Given the description of an element on the screen output the (x, y) to click on. 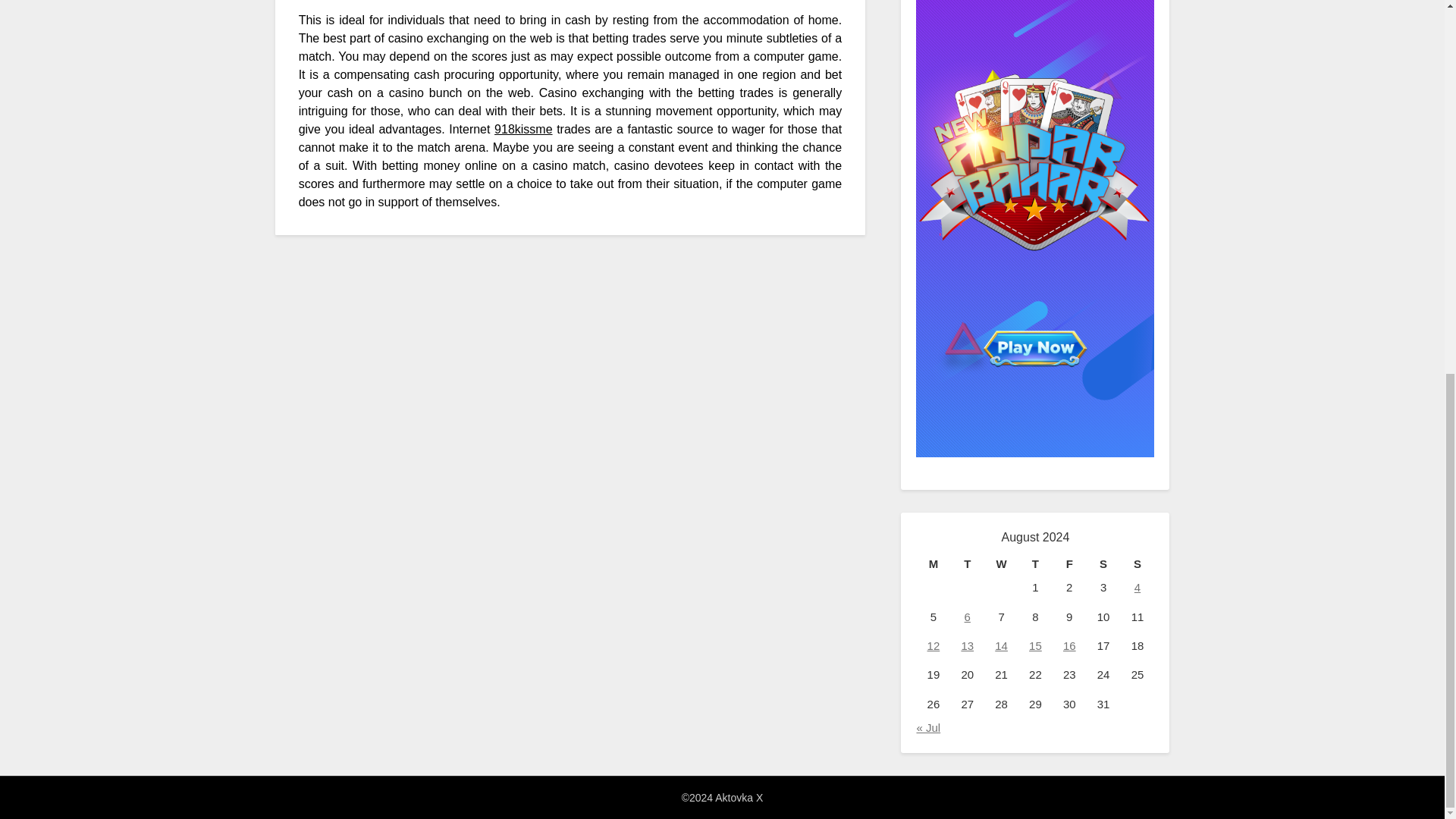
918kissme (523, 128)
15 (1035, 645)
13 (967, 645)
Friday (1069, 564)
Sunday (1137, 564)
16 (1068, 645)
Tuesday (967, 564)
Wednesday (1000, 564)
14 (1000, 645)
Monday (932, 564)
